Given the description of an element on the screen output the (x, y) to click on. 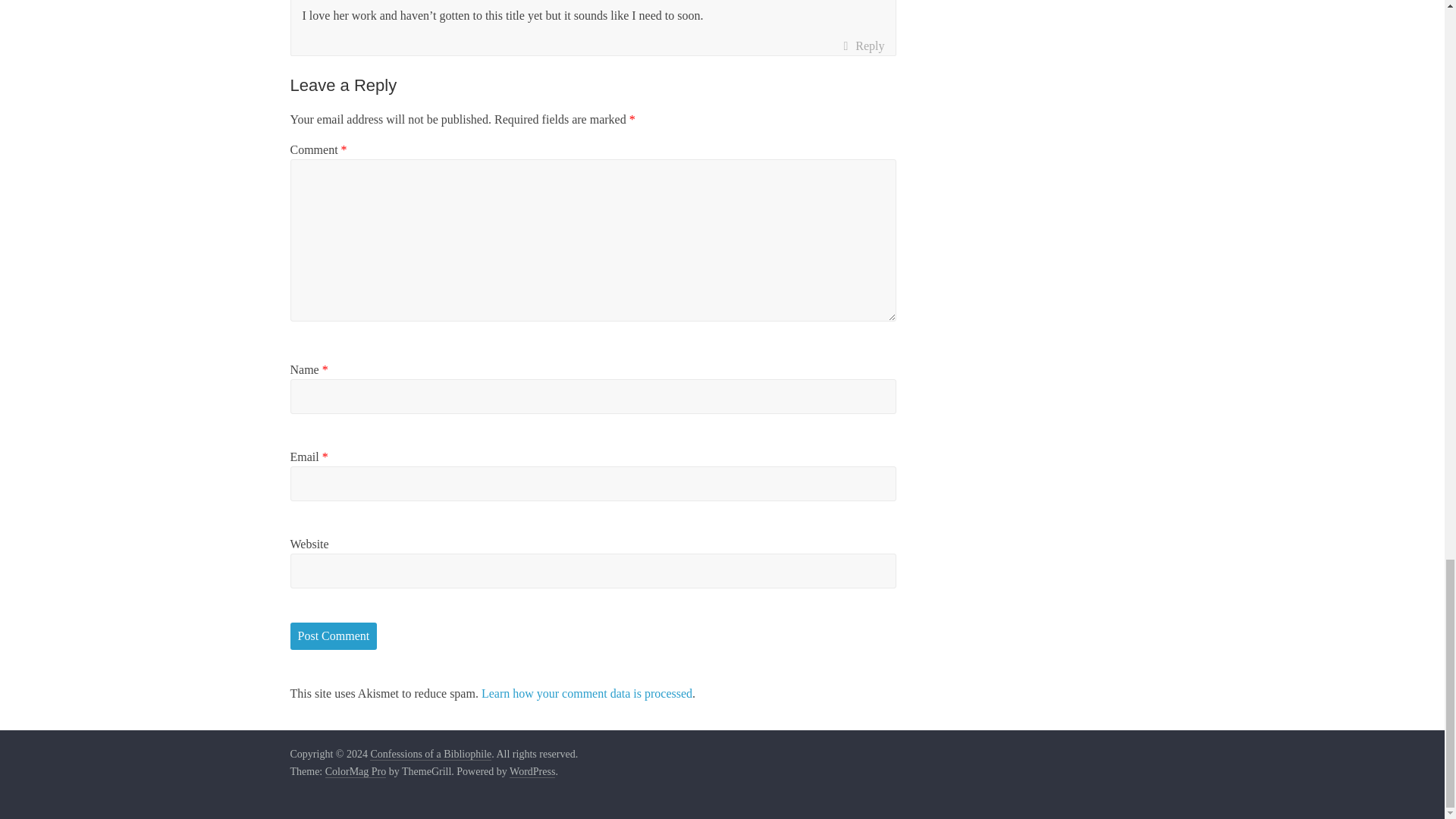
Post Comment (333, 636)
Reply (863, 46)
Learn how your comment data is processed (587, 693)
Post Comment (333, 636)
